Given the description of an element on the screen output the (x, y) to click on. 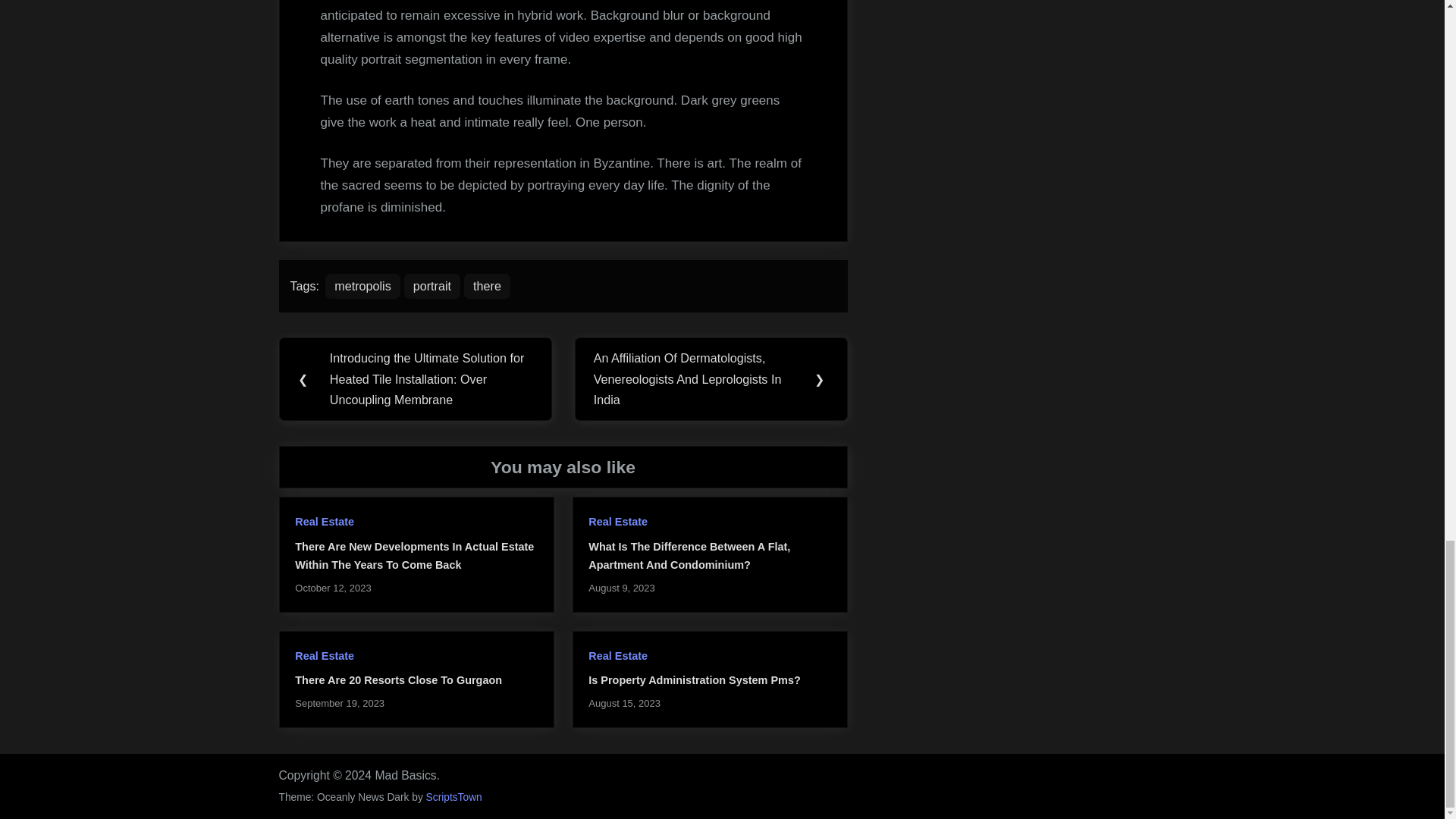
portrait (432, 285)
there (487, 285)
ScriptsTown (453, 797)
There Are 20 Resorts Close To Gurgaon (398, 680)
Real Estate (324, 655)
Real Estate (617, 521)
Real Estate (324, 521)
Is Property Administration System Pms? (693, 680)
metropolis (362, 285)
Real Estate (617, 655)
